Given the description of an element on the screen output the (x, y) to click on. 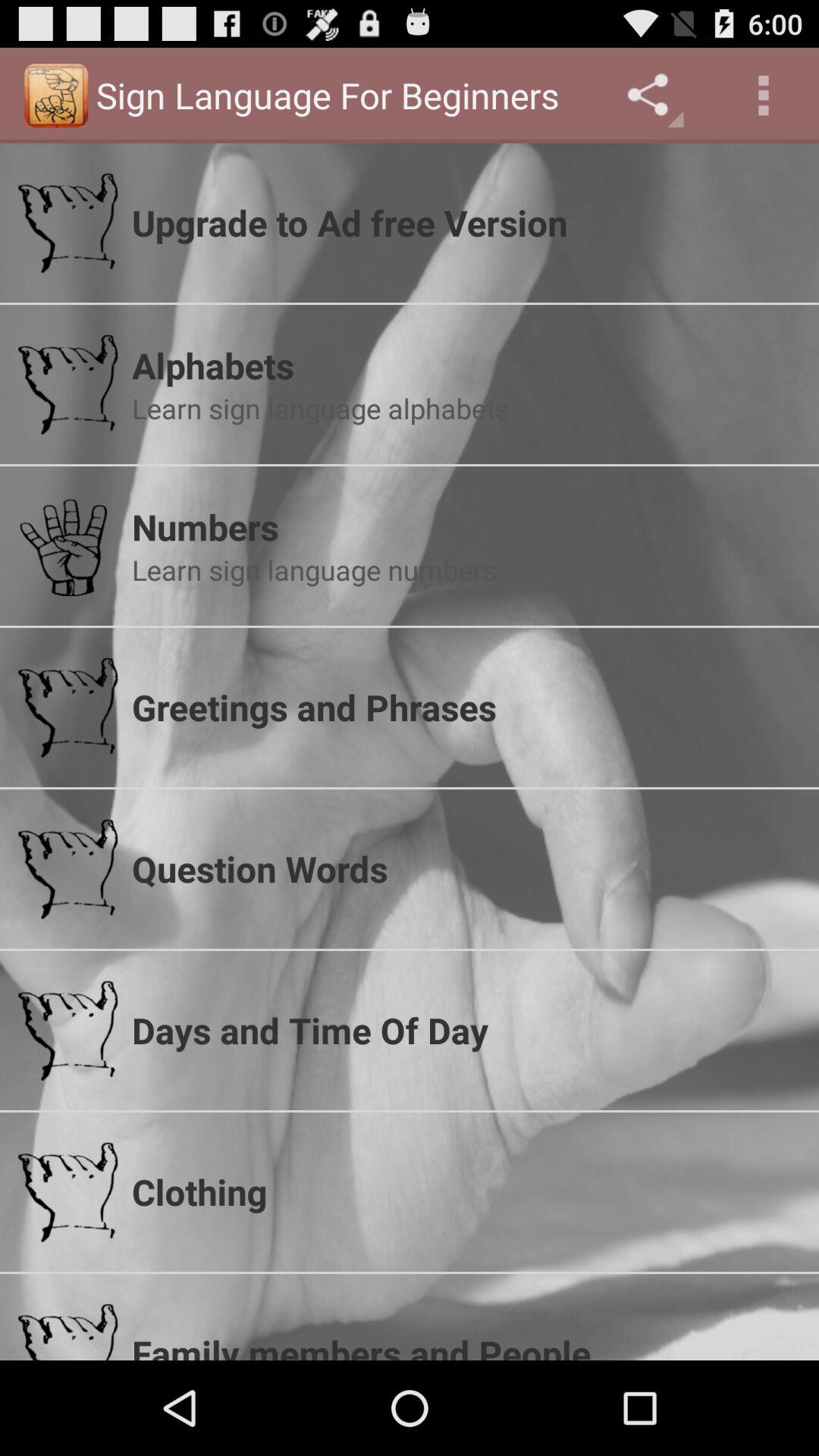
jump to the family members and app (465, 1344)
